Given the description of an element on the screen output the (x, y) to click on. 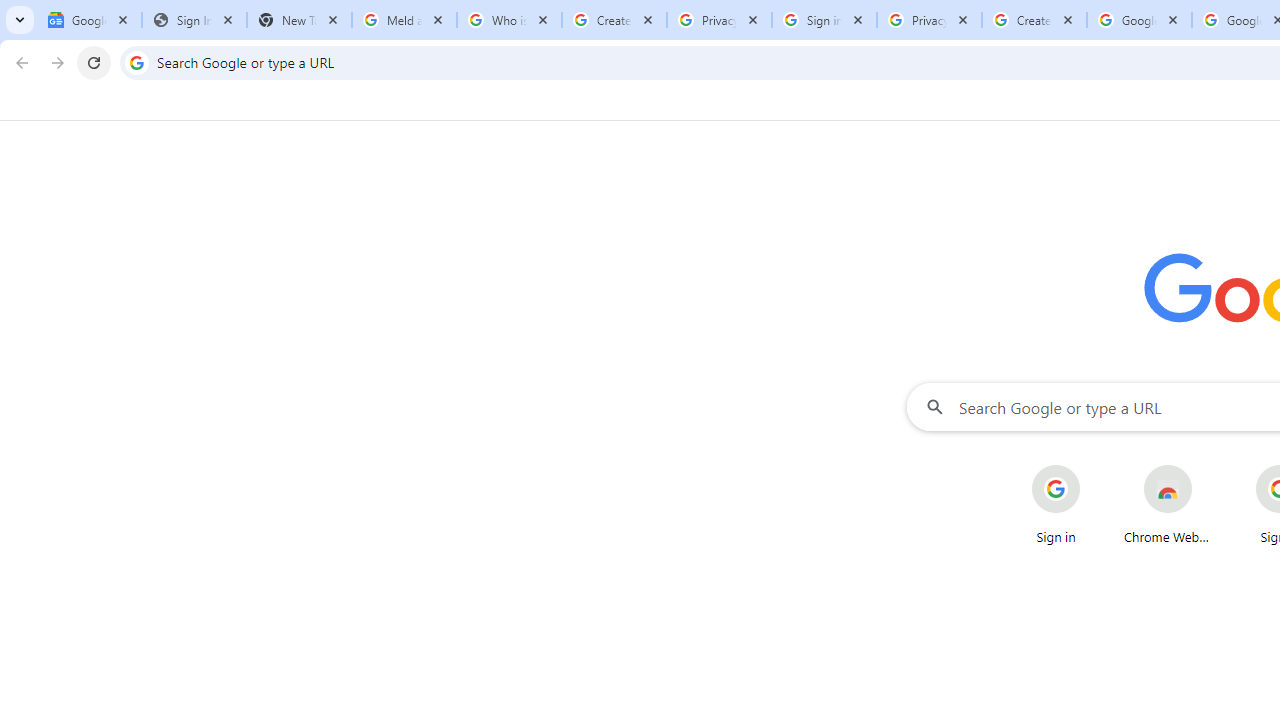
Google News (89, 20)
Sign In - USA TODAY (194, 20)
New Tab (299, 20)
Create your Google Account (1033, 20)
Who is my administrator? - Google Account Help (509, 20)
